Given the description of an element on the screen output the (x, y) to click on. 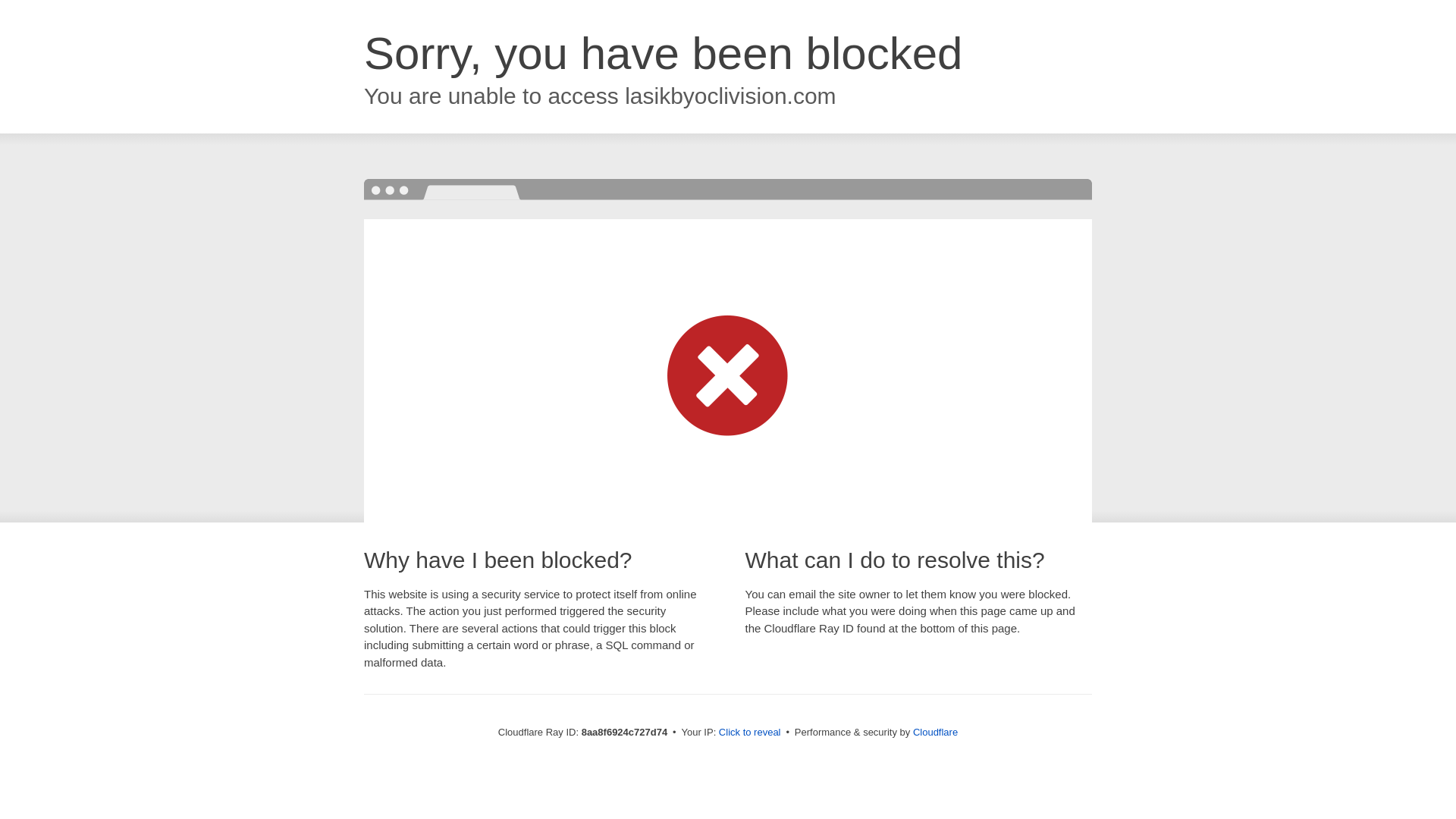
Cloudflare (935, 731)
Click to reveal (749, 732)
